Given the description of an element on the screen output the (x, y) to click on. 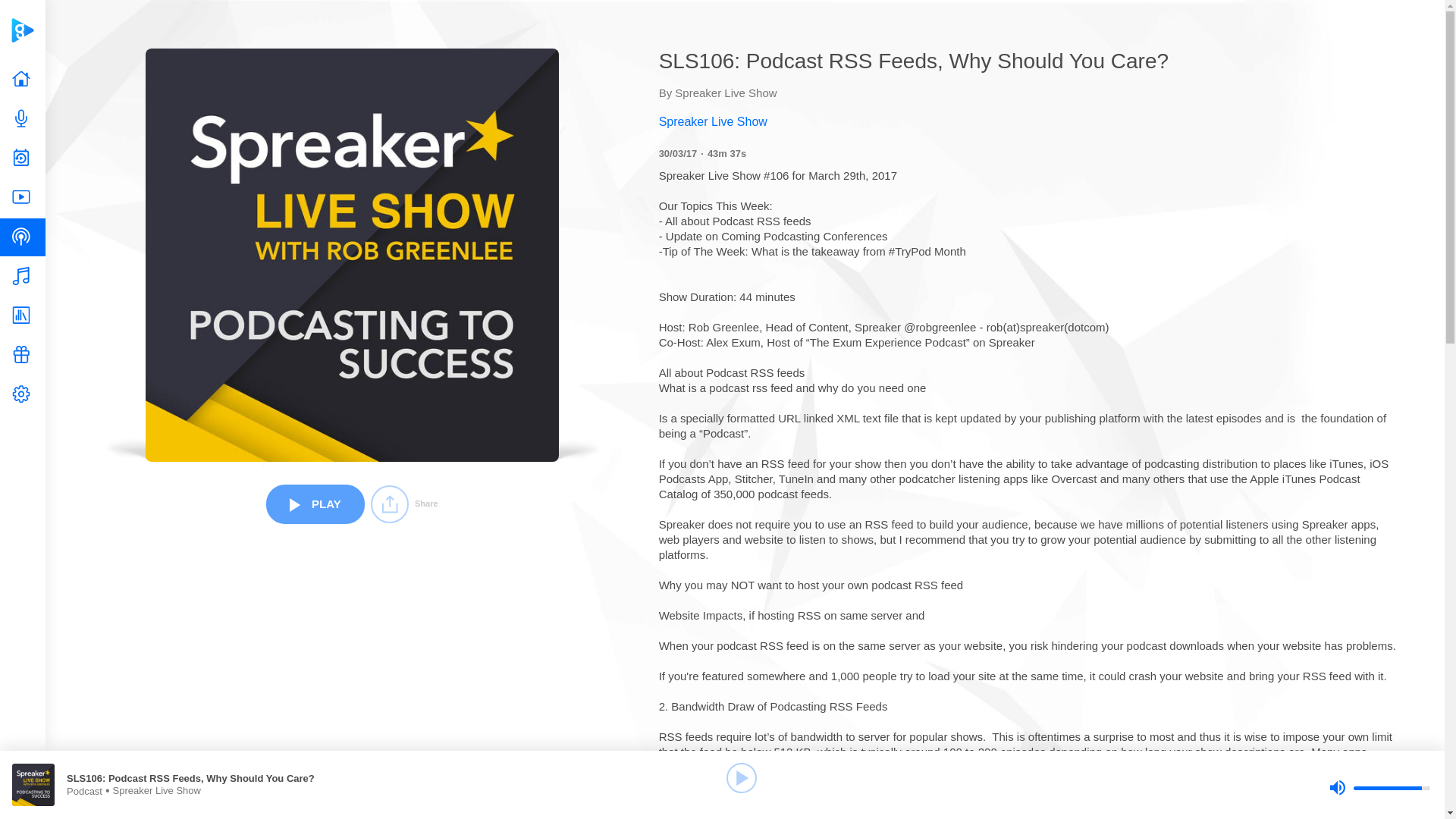
Share (404, 504)
Share (404, 504)
PLAY (315, 503)
Mute (1336, 787)
Global Player (22, 30)
Spreaker Live Show (1027, 121)
Play (741, 777)
SLS106: Podcast RSS Feeds, Why Should You Care? (213, 778)
Global Player (22, 30)
